Given the description of an element on the screen output the (x, y) to click on. 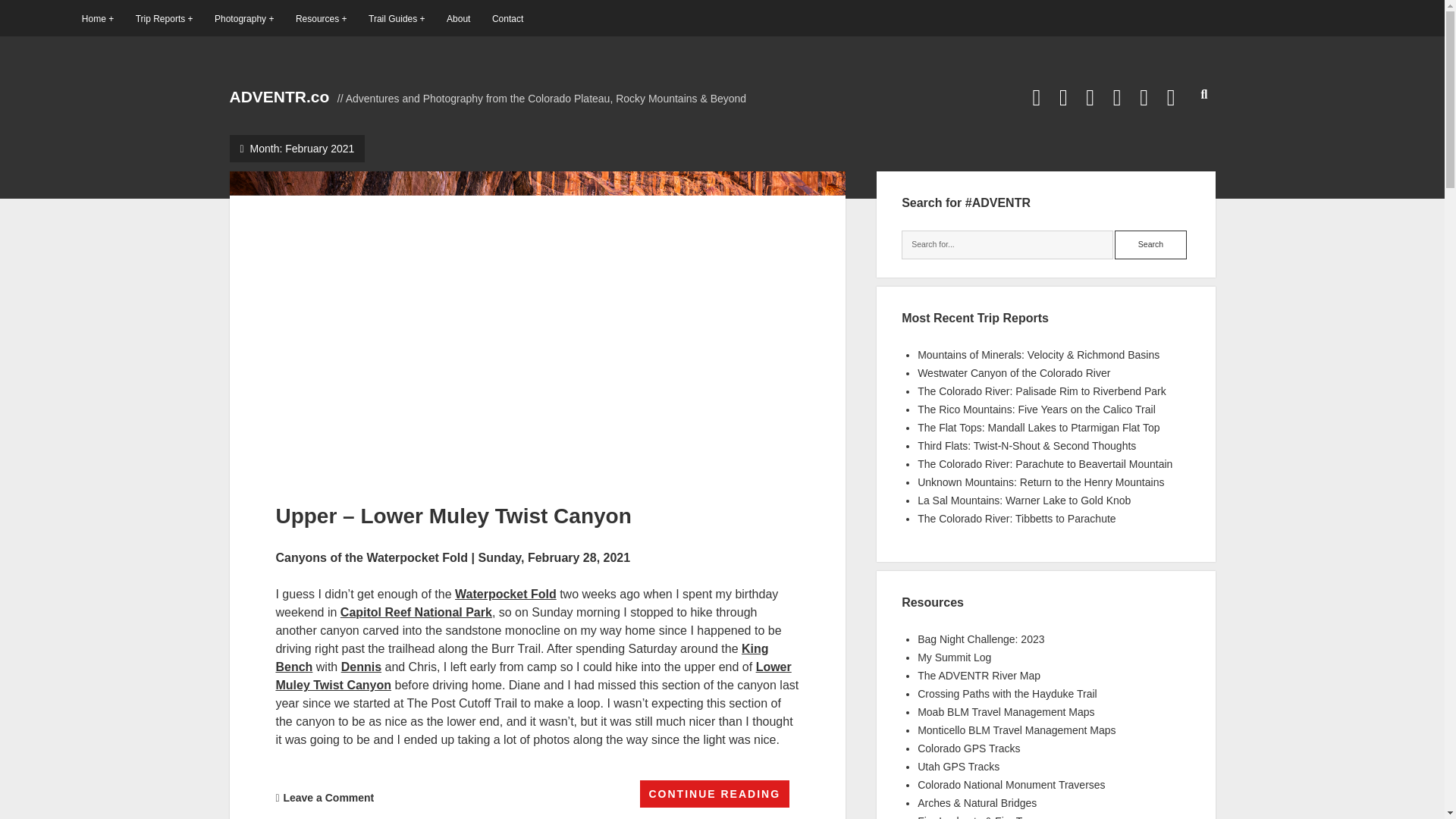
Trip Reports (164, 18)
Photography (243, 18)
Search (1150, 244)
Contact (507, 18)
Home (97, 18)
About ADVENTR.co (458, 18)
Search for: (1007, 244)
Search (1150, 244)
